Given the description of an element on the screen output the (x, y) to click on. 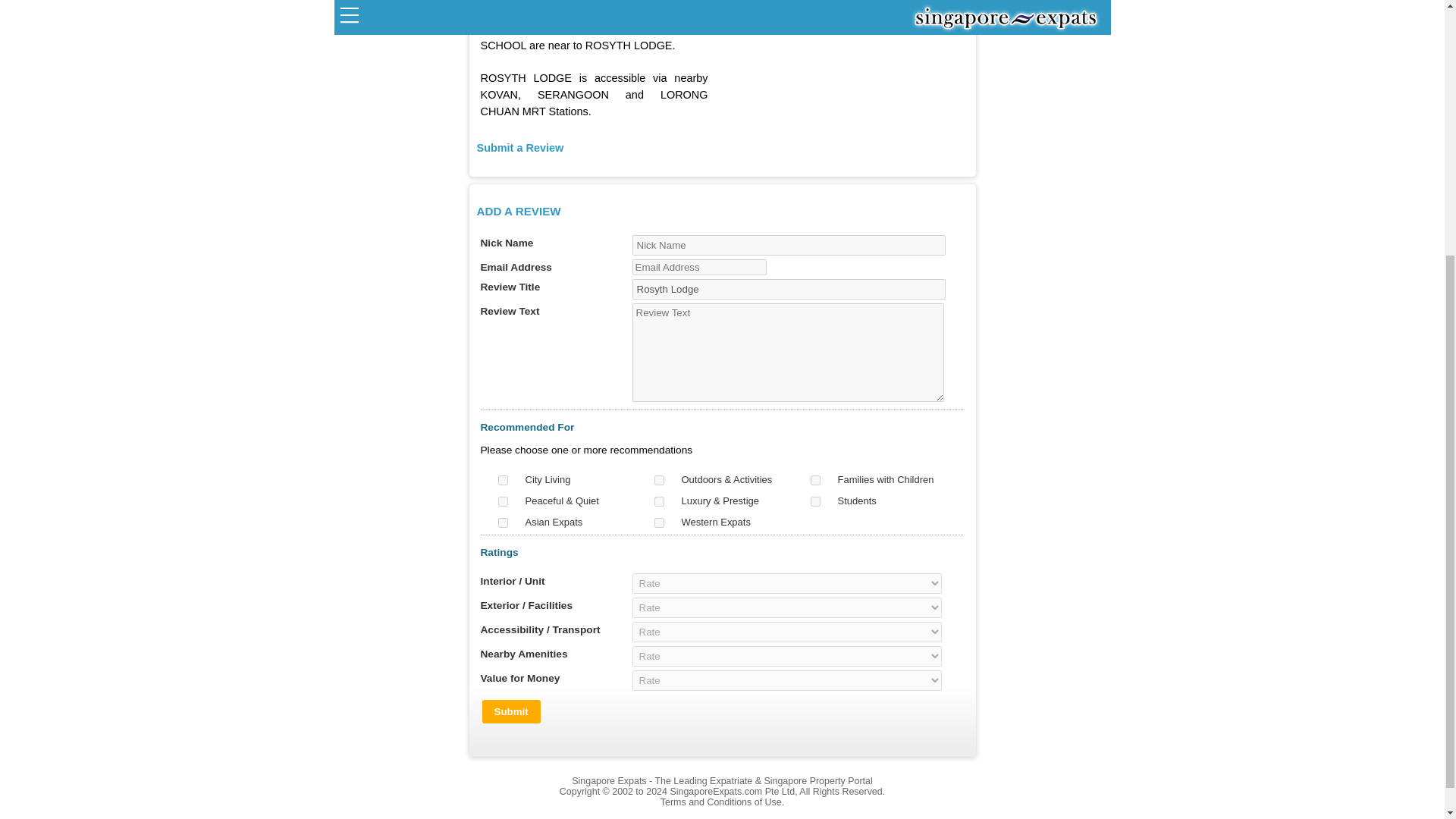
Submit (510, 711)
ADD A REVIEW (518, 210)
1 (501, 480)
Please enter your Email Address (699, 267)
7 (501, 522)
6 (814, 501)
Submit a Review (519, 147)
3 (814, 480)
4 (501, 501)
8 (658, 522)
